Given the description of an element on the screen output the (x, y) to click on. 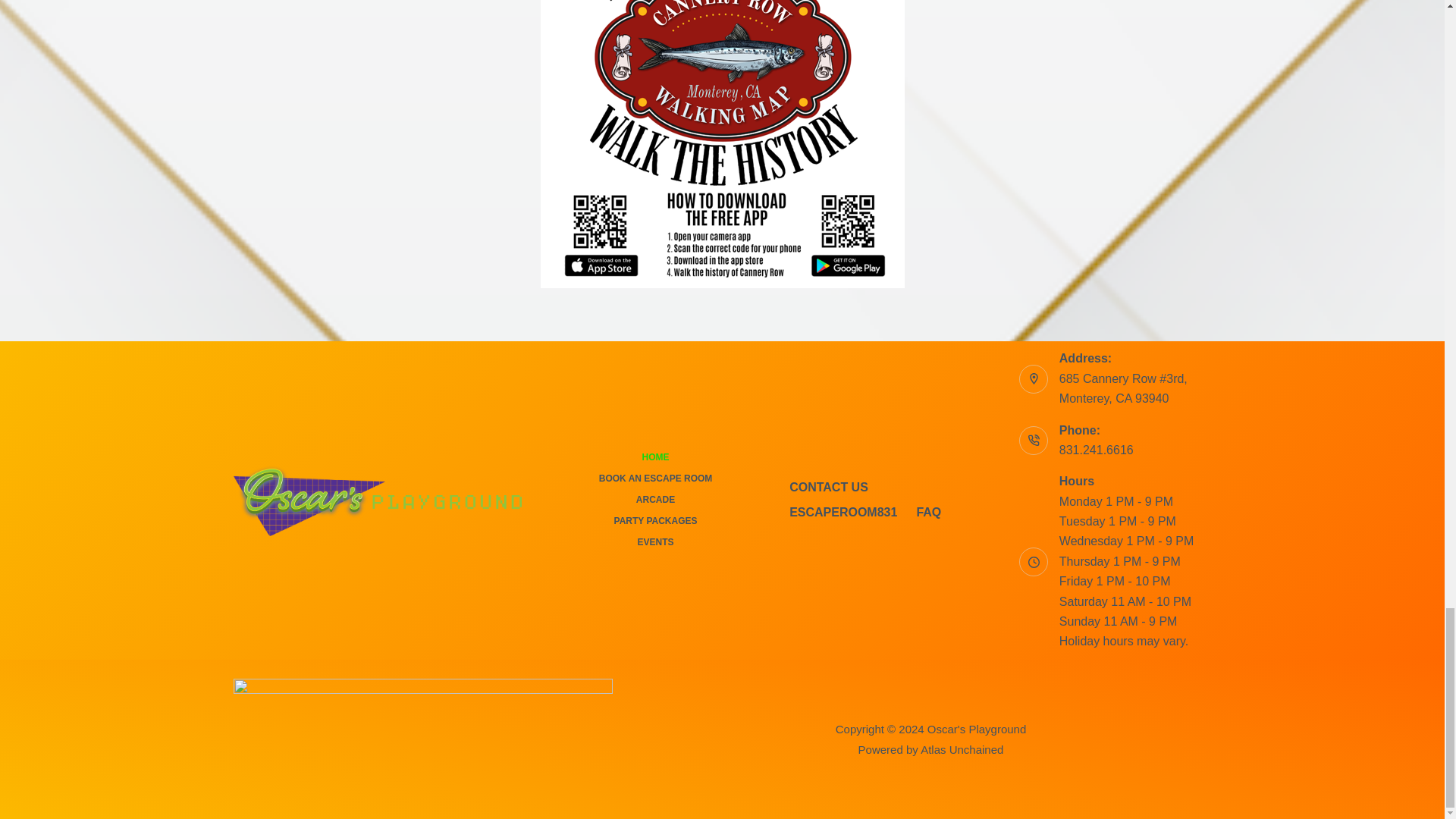
Atlas Unchained (961, 748)
FAQ (928, 512)
PARTY PACKAGES (655, 521)
831.241.6616 (1096, 449)
EVENTS (655, 542)
ESCAPEROOM831 (843, 512)
BOOK AN ESCAPE ROOM (655, 479)
HOME (655, 458)
ARCADE (655, 500)
CONTACT US (828, 487)
